Given the description of an element on the screen output the (x, y) to click on. 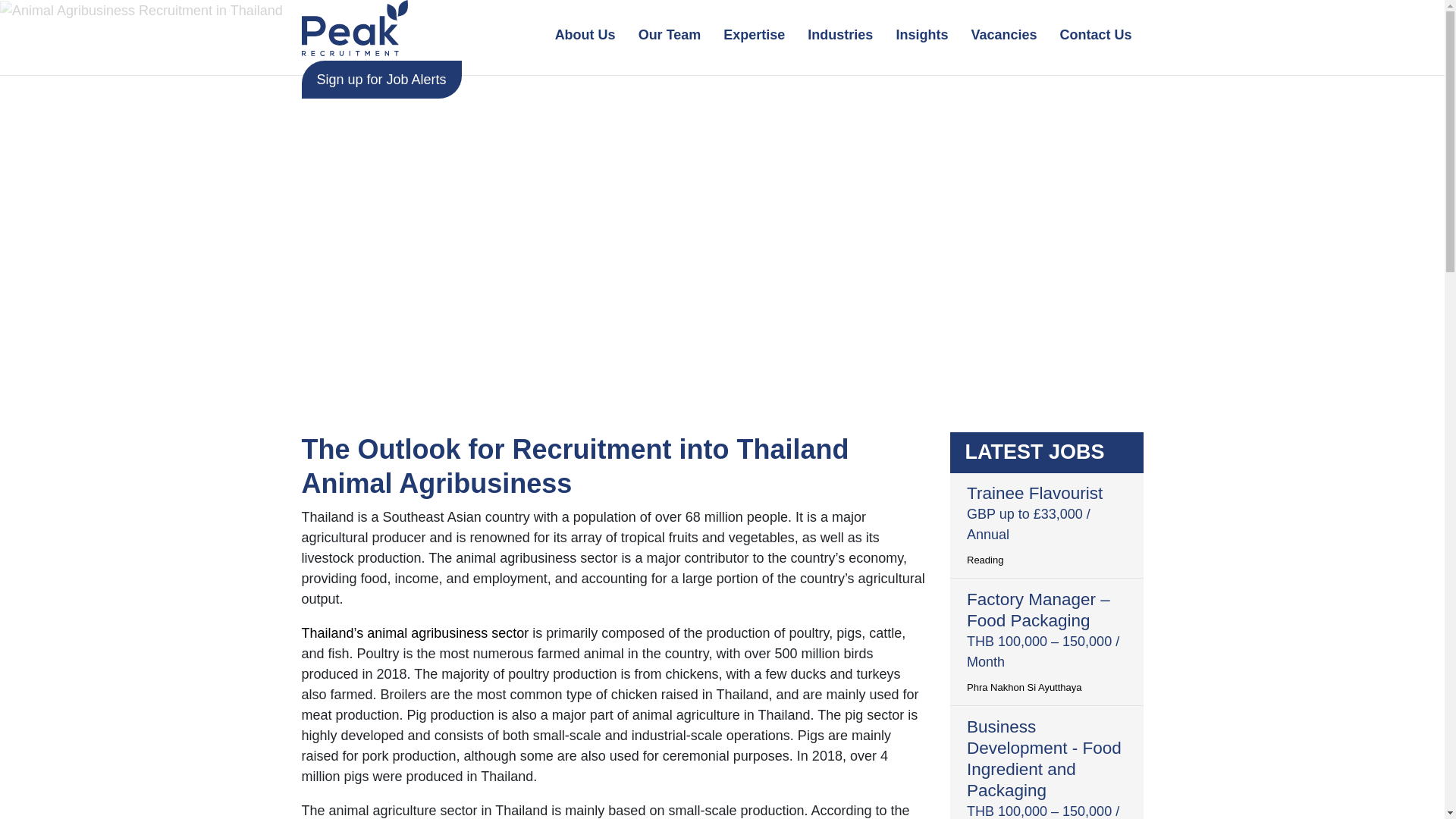
Sign up for Job Alerts (381, 79)
